Given the description of an element on the screen output the (x, y) to click on. 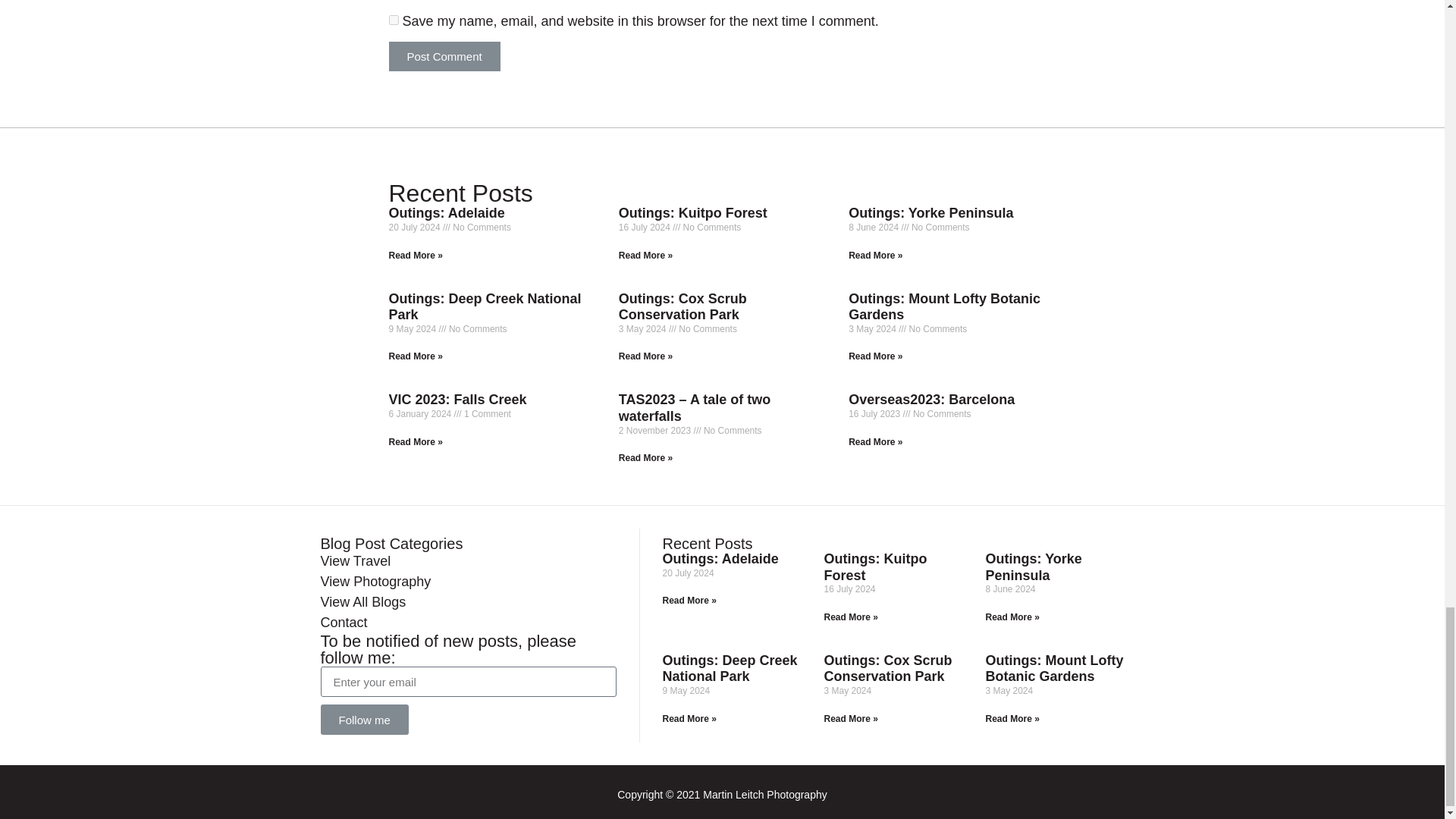
Post Comment (443, 56)
yes (392, 20)
